Given the description of an element on the screen output the (x, y) to click on. 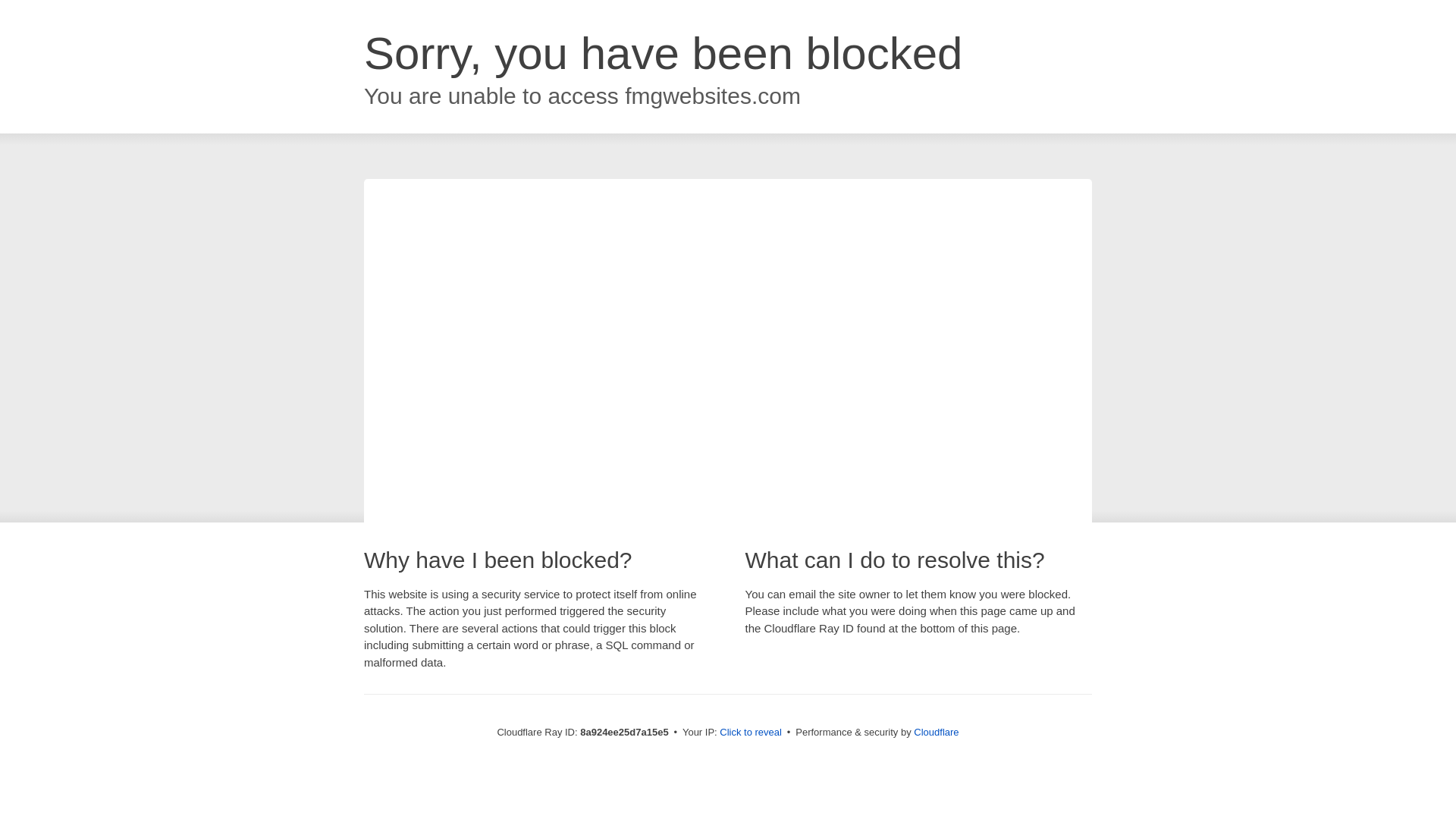
Cloudflare (936, 731)
Click to reveal (750, 732)
